Given the description of an element on the screen output the (x, y) to click on. 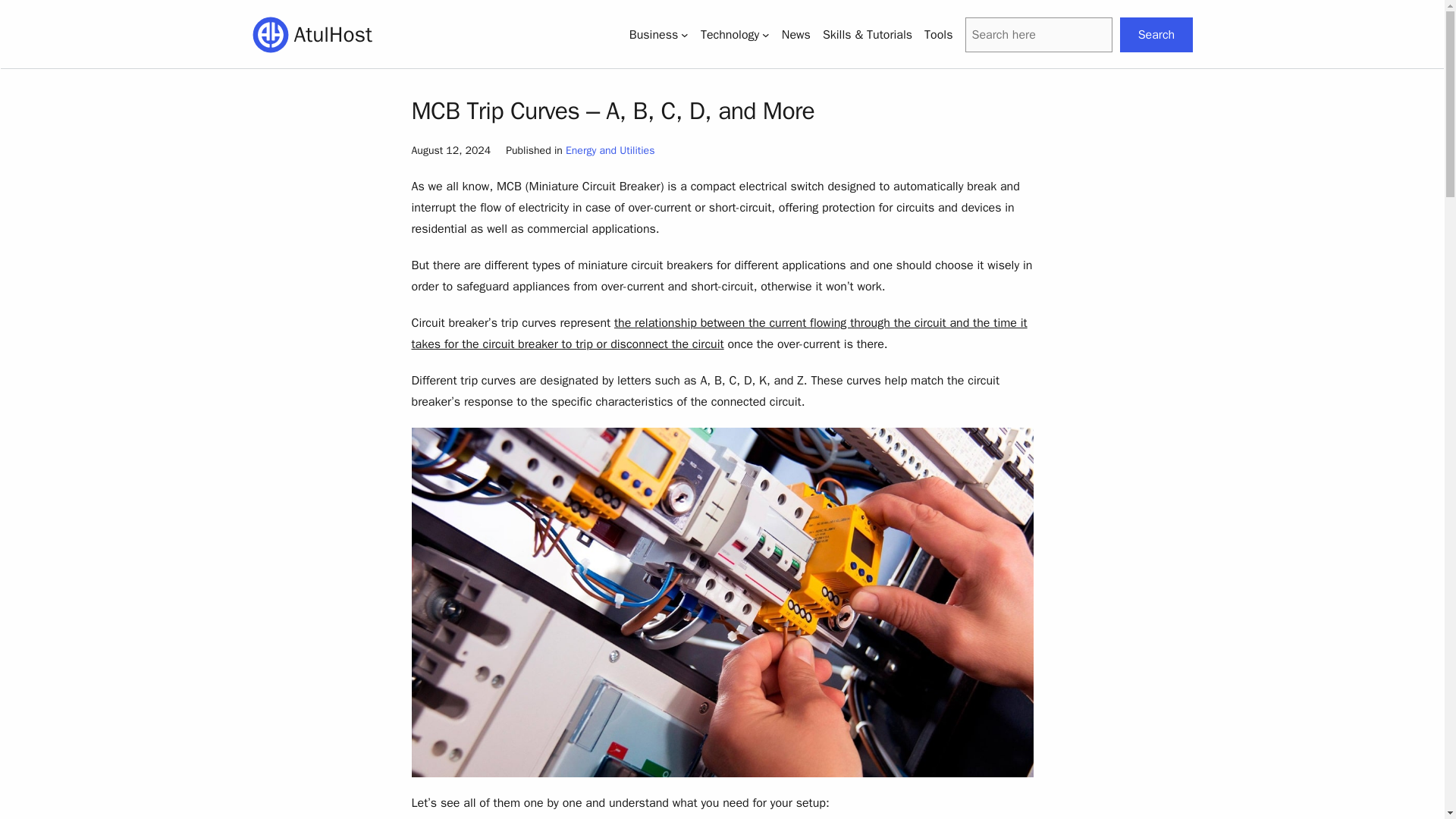
Technology (729, 34)
Search (1155, 33)
AtulHost (333, 34)
News (795, 34)
Business (653, 34)
Energy and Utilities (609, 150)
Tools (938, 34)
